Given the description of an element on the screen output the (x, y) to click on. 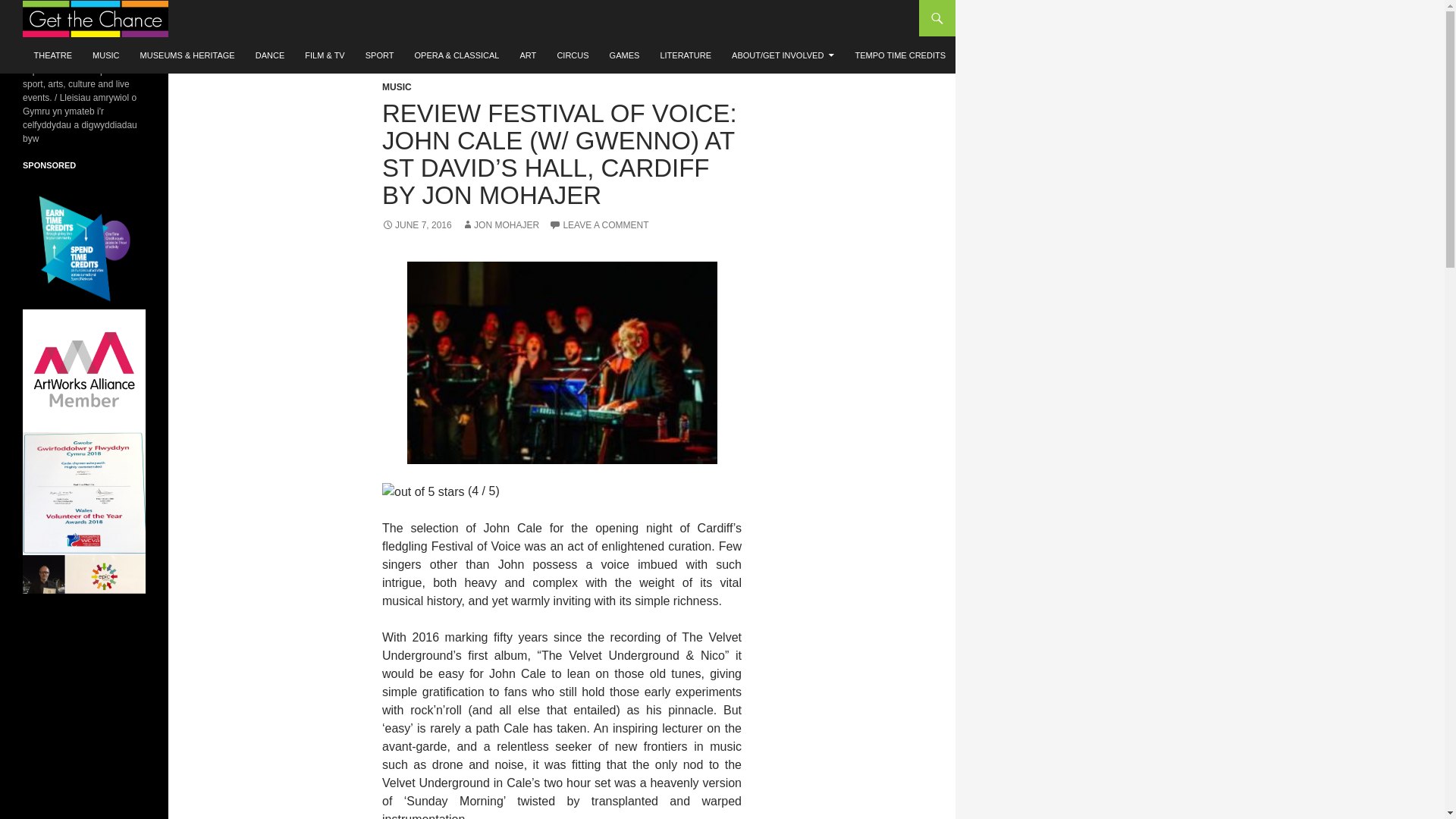
JON MOHAJER (499, 225)
JUNE 7, 2016 (416, 225)
MUSIC (105, 54)
DANCE (270, 54)
GAMES (624, 54)
TEMPO TIME CREDITS (900, 54)
SPORT (379, 54)
ART (528, 54)
THEATRE (52, 54)
LEAVE A COMMENT (597, 225)
LITERATURE (685, 54)
CIRCUS (571, 54)
MUSIC (396, 86)
